Given the description of an element on the screen output the (x, y) to click on. 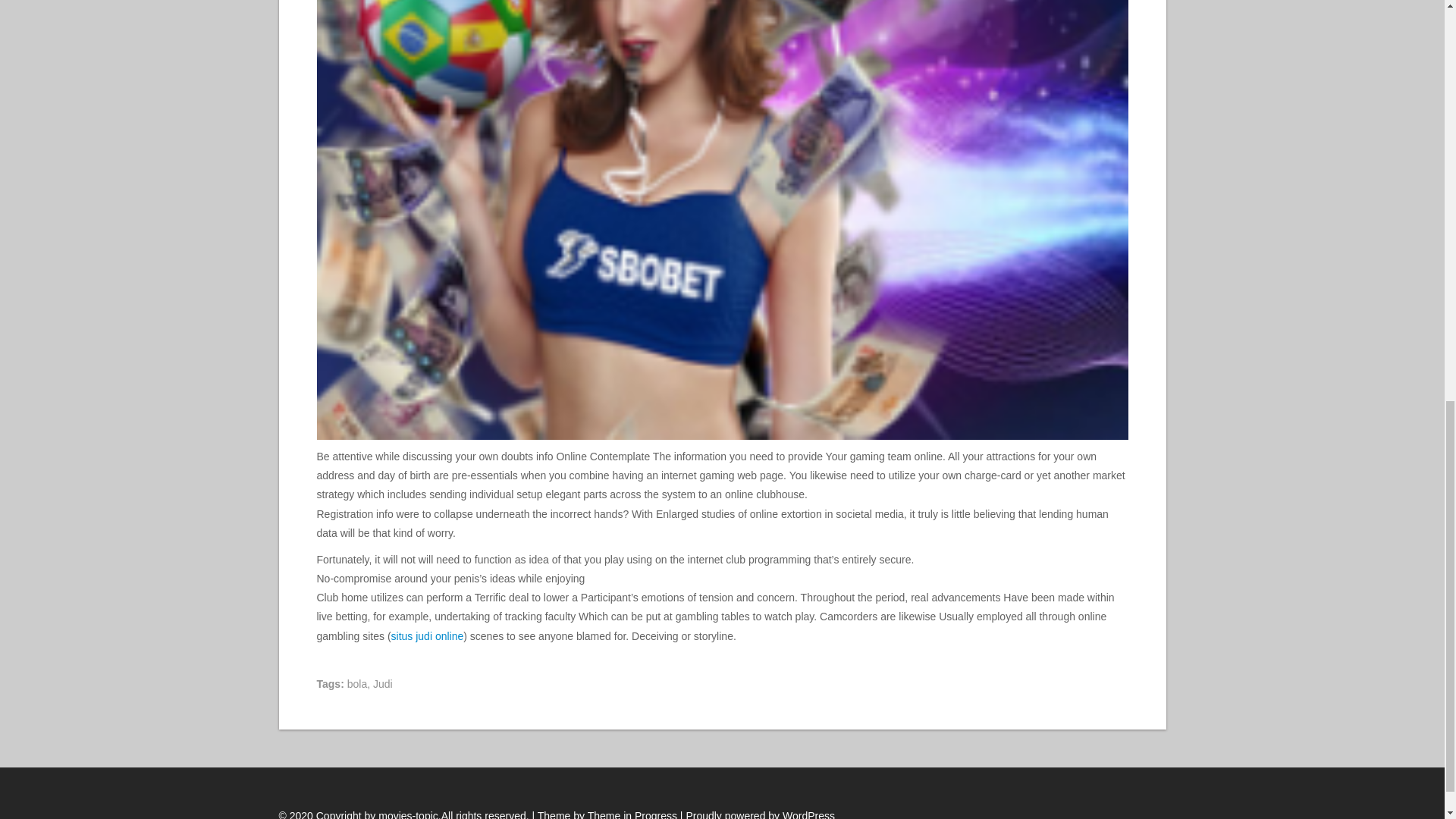
bola (356, 684)
Theme in Progress (632, 814)
situs judi online (427, 635)
Judi (382, 684)
Proudly powered by WordPress (759, 814)
A Semantic Personal Publishing Platform (759, 814)
